Given the description of an element on the screen output the (x, y) to click on. 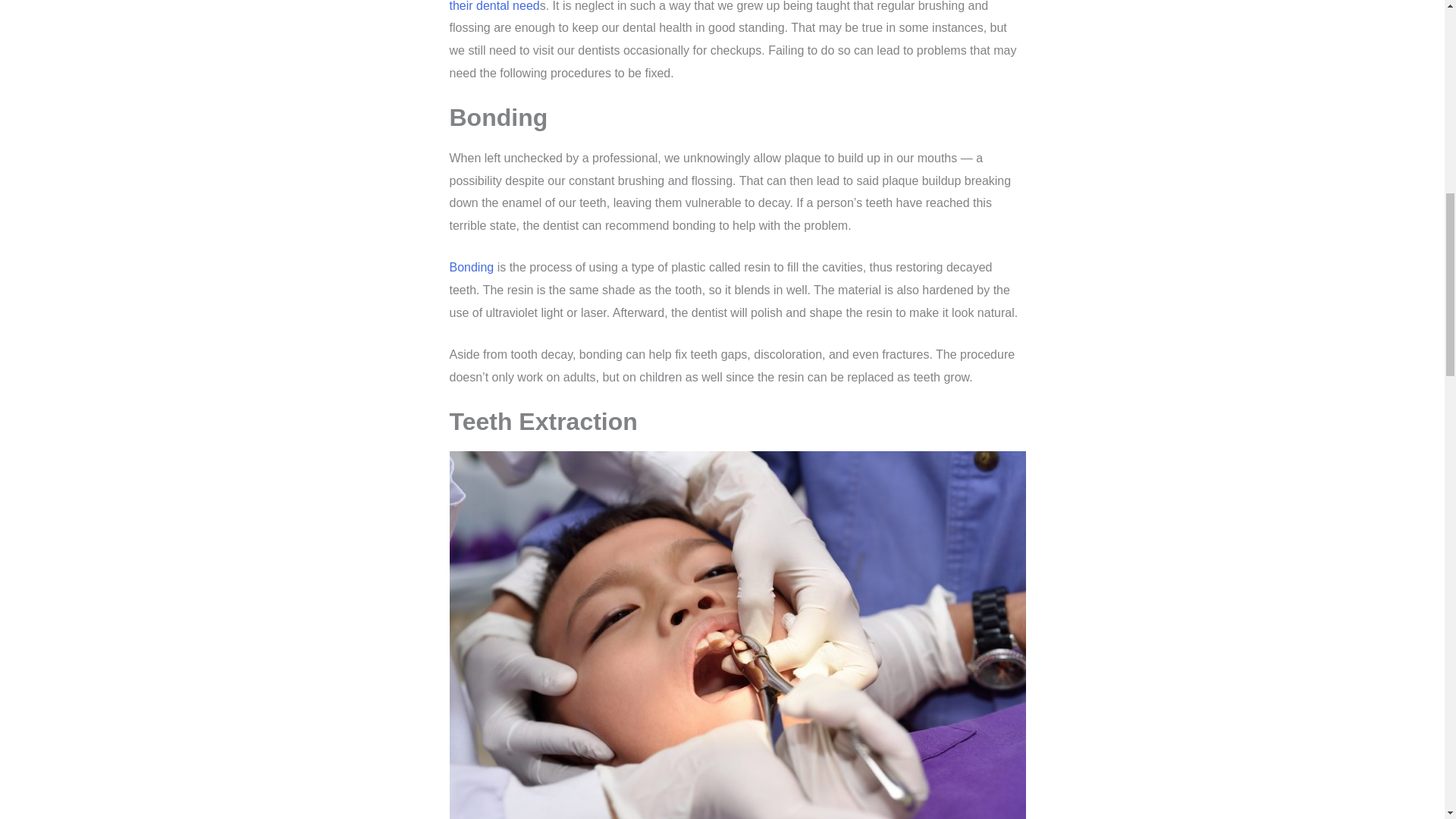
Bonding (470, 267)
their dental need (493, 5)
WebMD (470, 267)
